Given the description of an element on the screen output the (x, y) to click on. 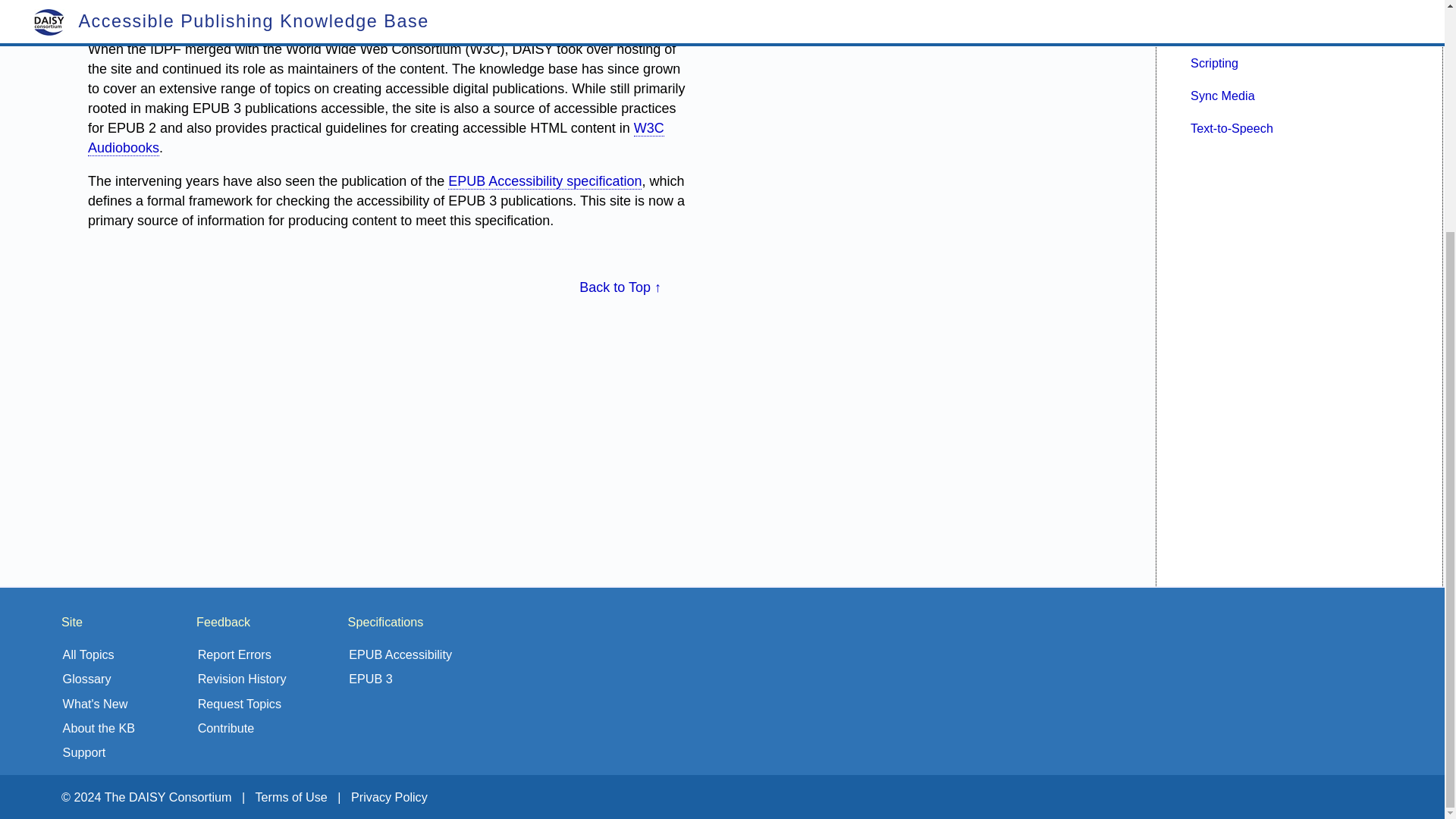
All Topics (88, 653)
Text-to-Speech (1231, 128)
What's New (95, 703)
EPUB Accessibility (400, 653)
Contribute (226, 727)
Scripting (1215, 61)
Support (84, 752)
Glossary (87, 678)
EPUB 3 (371, 678)
EPUB Accessibility specification (545, 181)
